Given the description of an element on the screen output the (x, y) to click on. 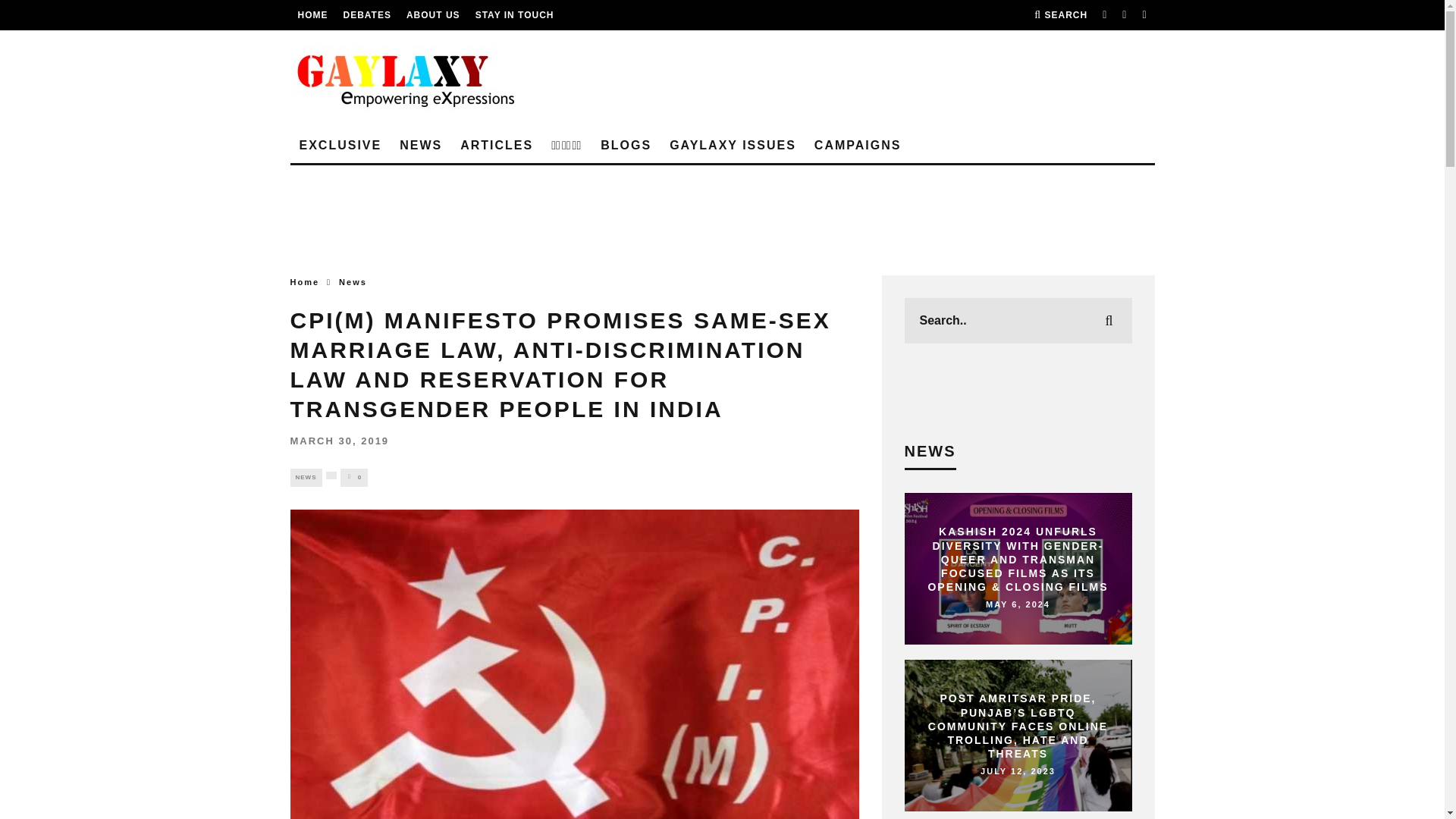
SEARCH (1060, 15)
View all posts in News (352, 281)
EXCLUSIVE (339, 145)
View all posts in News (305, 477)
HOME (312, 15)
Campaign (858, 145)
STAY IN TOUCH (515, 15)
Search (1060, 15)
DEBATES (366, 15)
ABOUT US (433, 15)
